Given the description of an element on the screen output the (x, y) to click on. 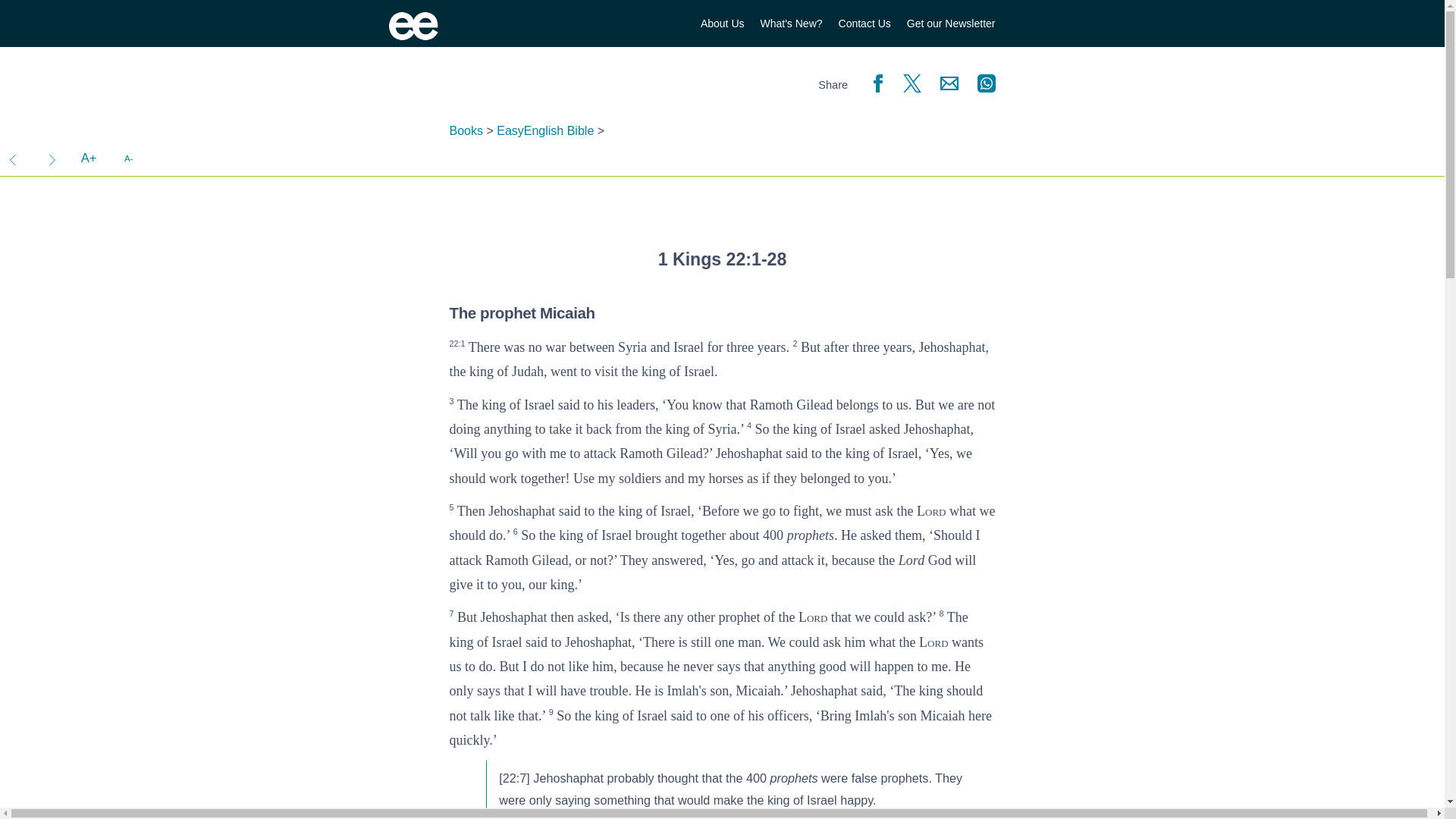
About Us (722, 23)
Like 1 Kings 22 on Facebook (872, 81)
Share 1 Kings 22 by Email (946, 81)
What's New? (791, 23)
Make Text Larger (87, 158)
King Ahab dies in battle (51, 158)
Get our Newsletter (951, 23)
Share 1 Kings 22 on Whatsapp (982, 81)
EasyEnglish Bible (545, 130)
EasyEnglish Bible Homepage (413, 26)
A- (128, 158)
Tweet 1 Kings 22 on Twitter (908, 81)
Naboth's vineyard (15, 158)
Contact Us (864, 23)
Make Text Smaller (128, 158)
